Given the description of an element on the screen output the (x, y) to click on. 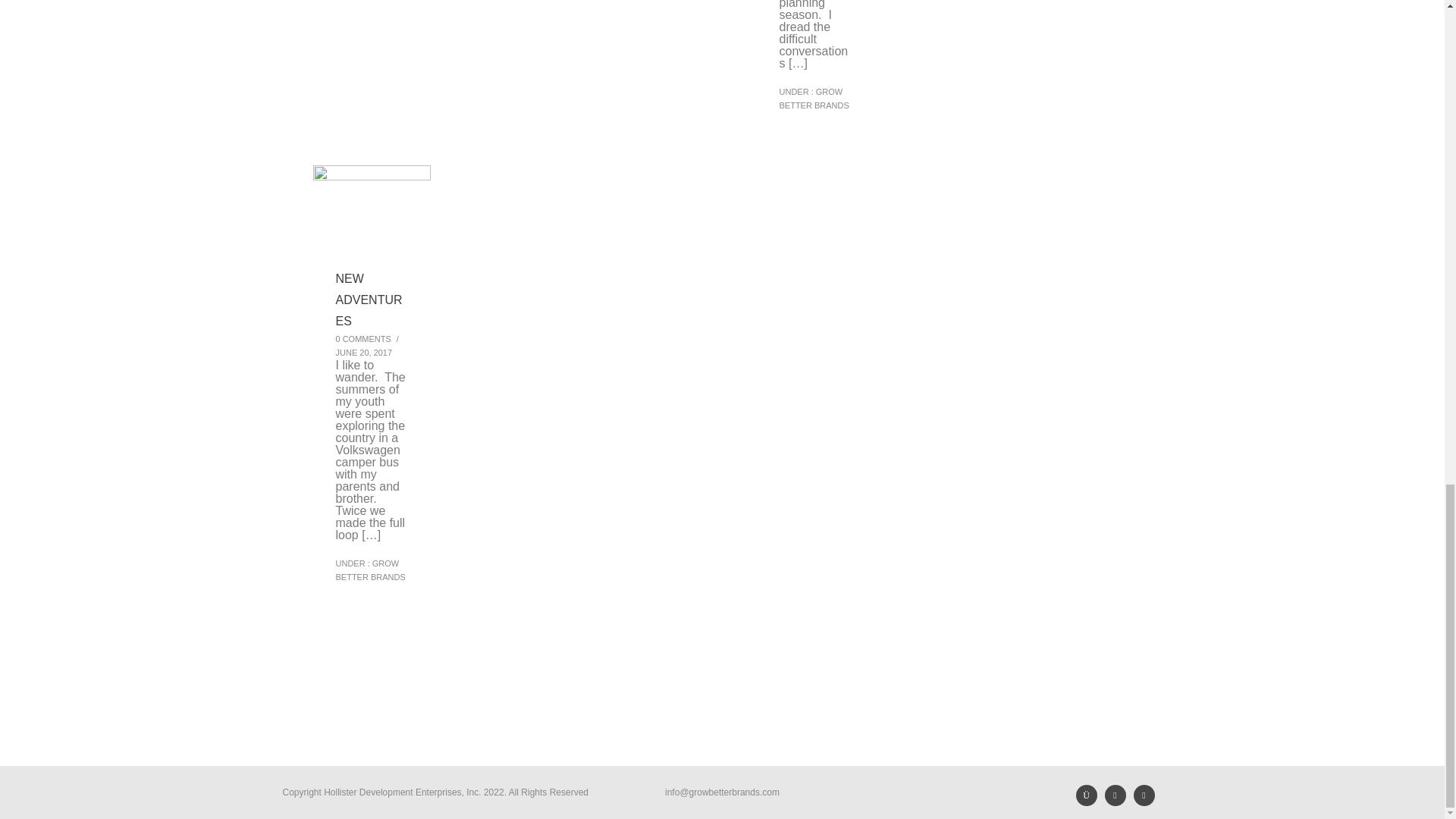
GROW BETTER BRANDS (813, 97)
View all posts in Grow Better Brands (369, 569)
0 COMMENTS (362, 338)
GROW BETTER BRANDS (369, 569)
NEW ADVENTURES (370, 300)
View all posts in Grow Better Brands (813, 97)
